Given the description of an element on the screen output the (x, y) to click on. 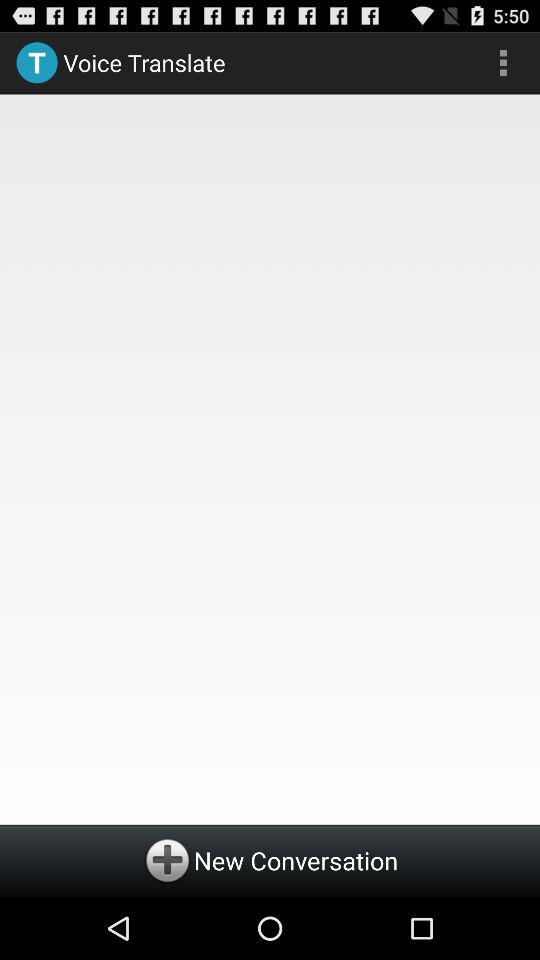
tap the icon next to voice translate item (503, 62)
